Given the description of an element on the screen output the (x, y) to click on. 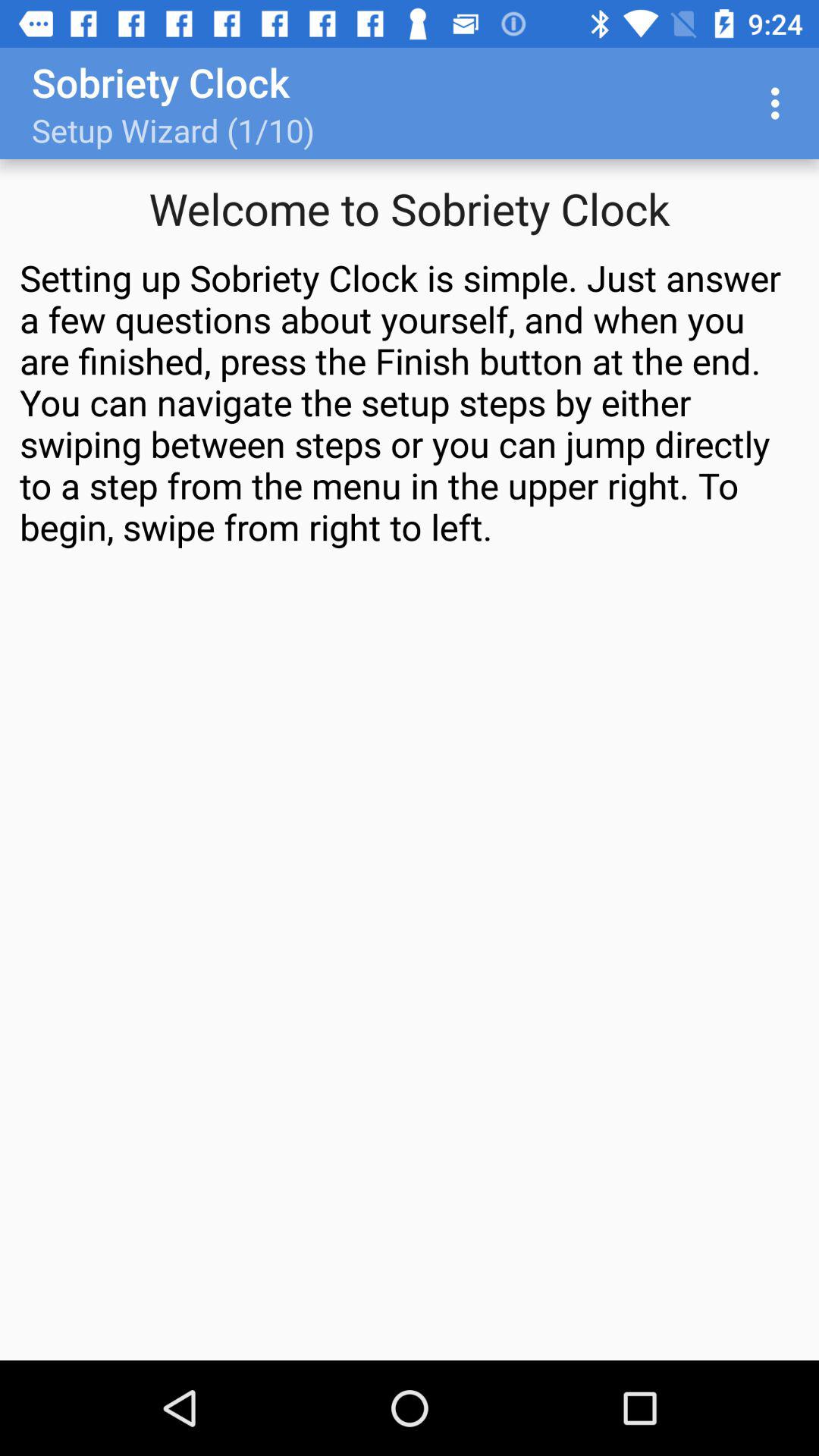
click item above setting up sobriety icon (779, 103)
